Given the description of an element on the screen output the (x, y) to click on. 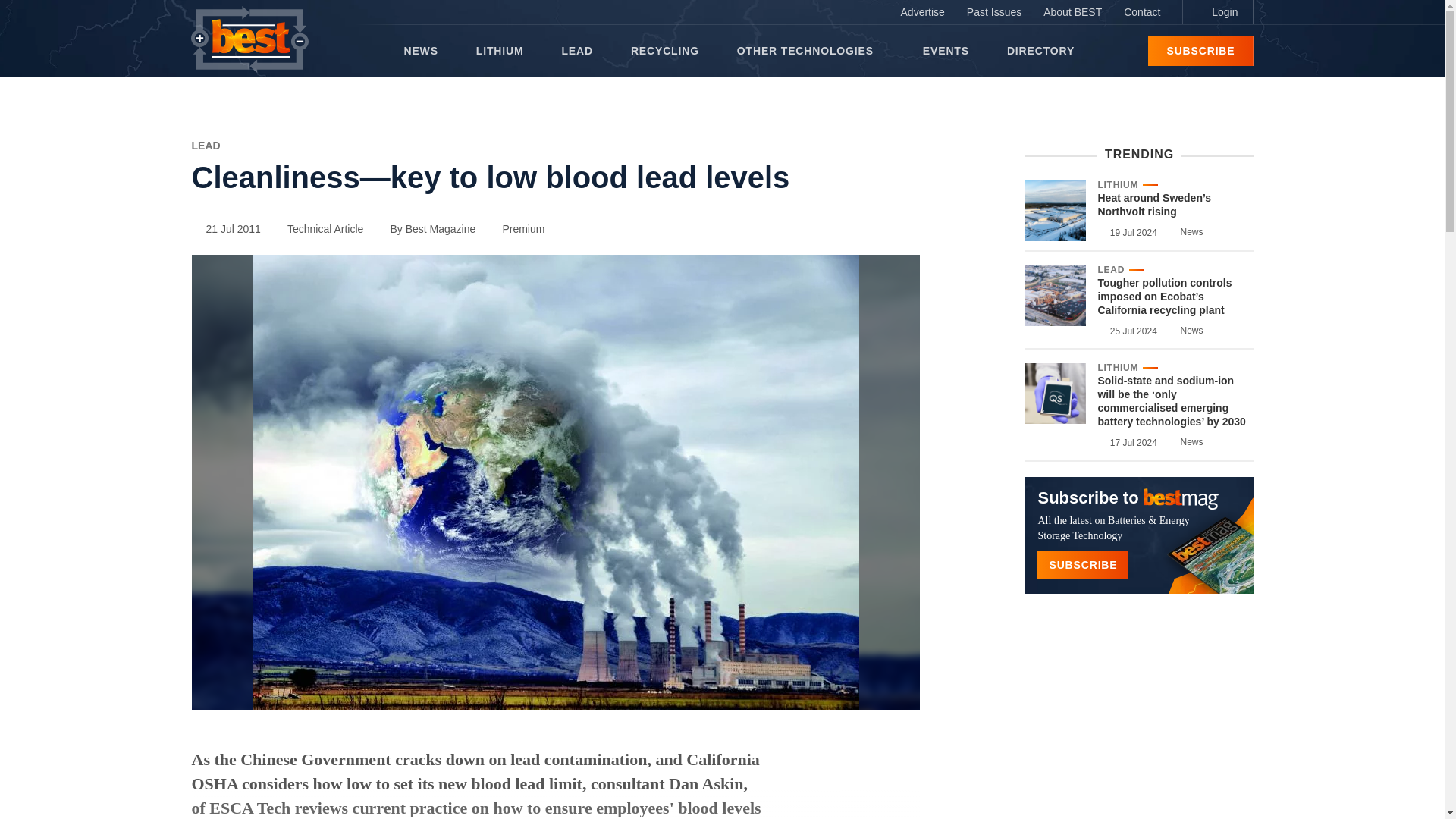
Technical Article (317, 228)
SUBSCRIBE (1200, 51)
OTHER TECHNOLOGIES (810, 50)
Advertise (922, 12)
Past Issues (994, 12)
DIRECTORY (1039, 50)
Login (1217, 12)
NEWS (420, 50)
RECYCLING (664, 50)
EVENTS (945, 50)
LITHIUM (499, 50)
Contact (1141, 12)
By Best Magazine (425, 228)
About BEST (1072, 12)
LEAD (204, 145)
